Given the description of an element on the screen output the (x, y) to click on. 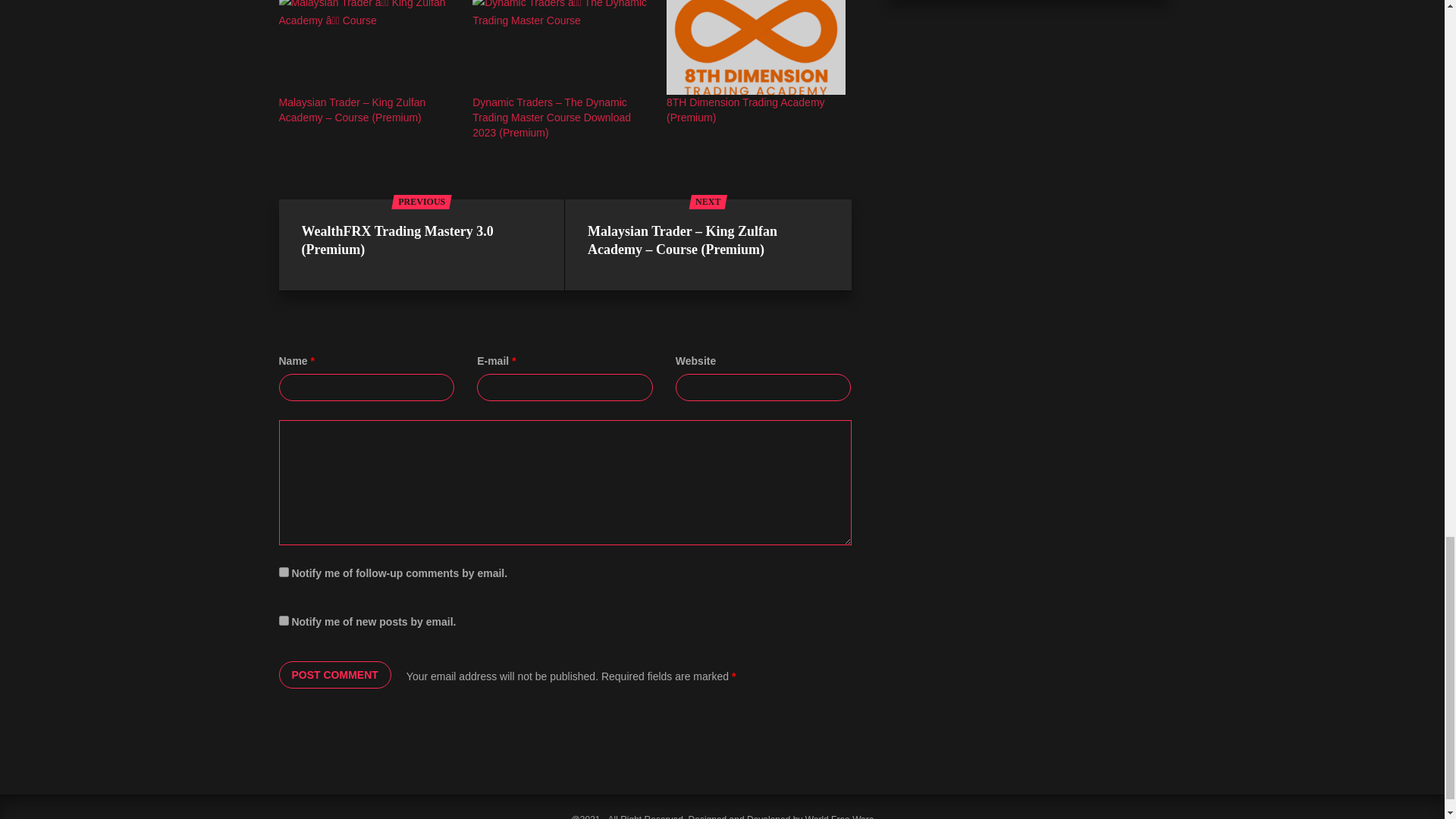
subscribe (283, 620)
subscribe (283, 572)
Post comment (335, 674)
